Given the description of an element on the screen output the (x, y) to click on. 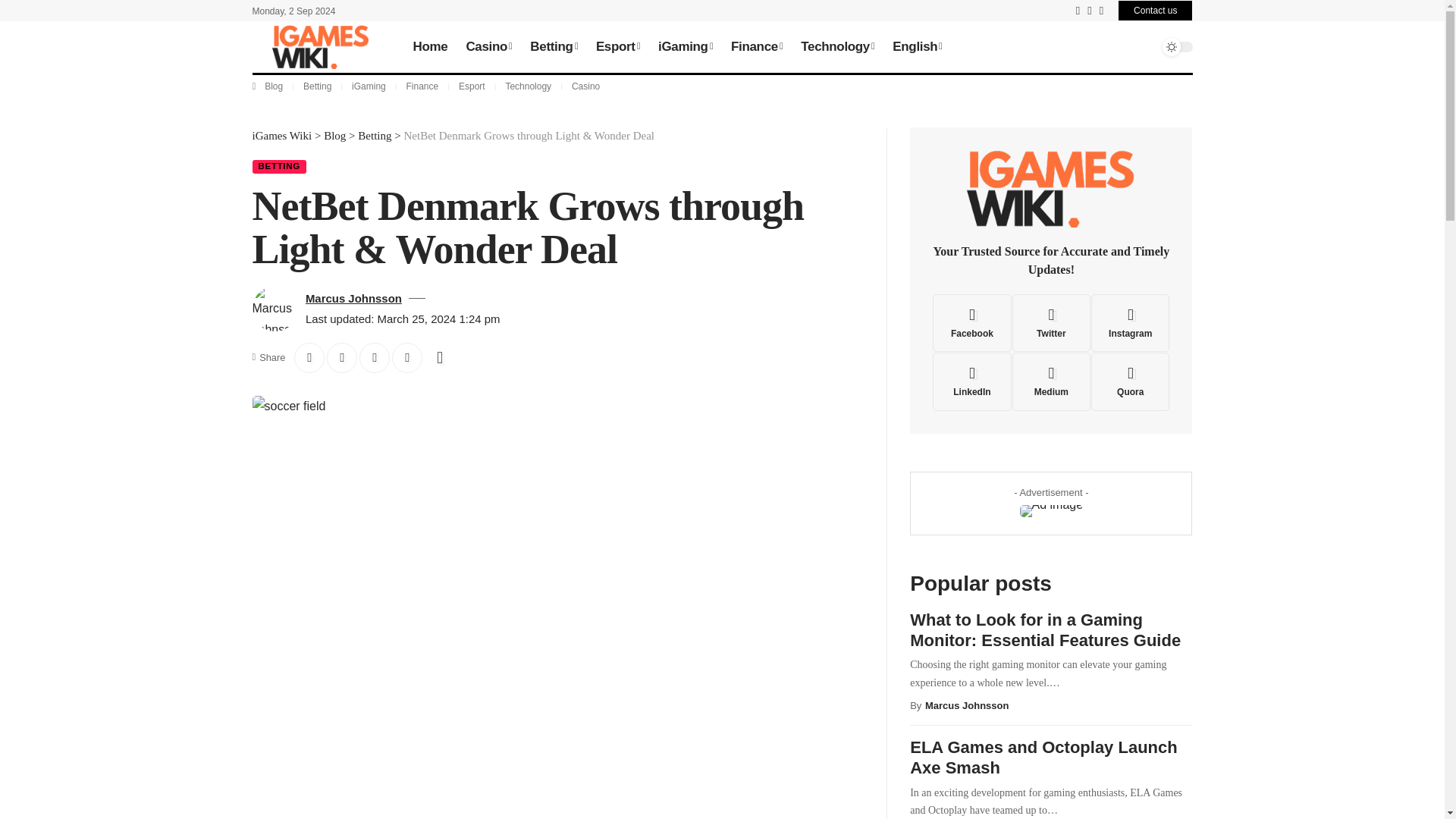
Contact us (1155, 10)
Betting (553, 46)
Home (430, 46)
Casino (489, 46)
